Given the description of an element on the screen output the (x, y) to click on. 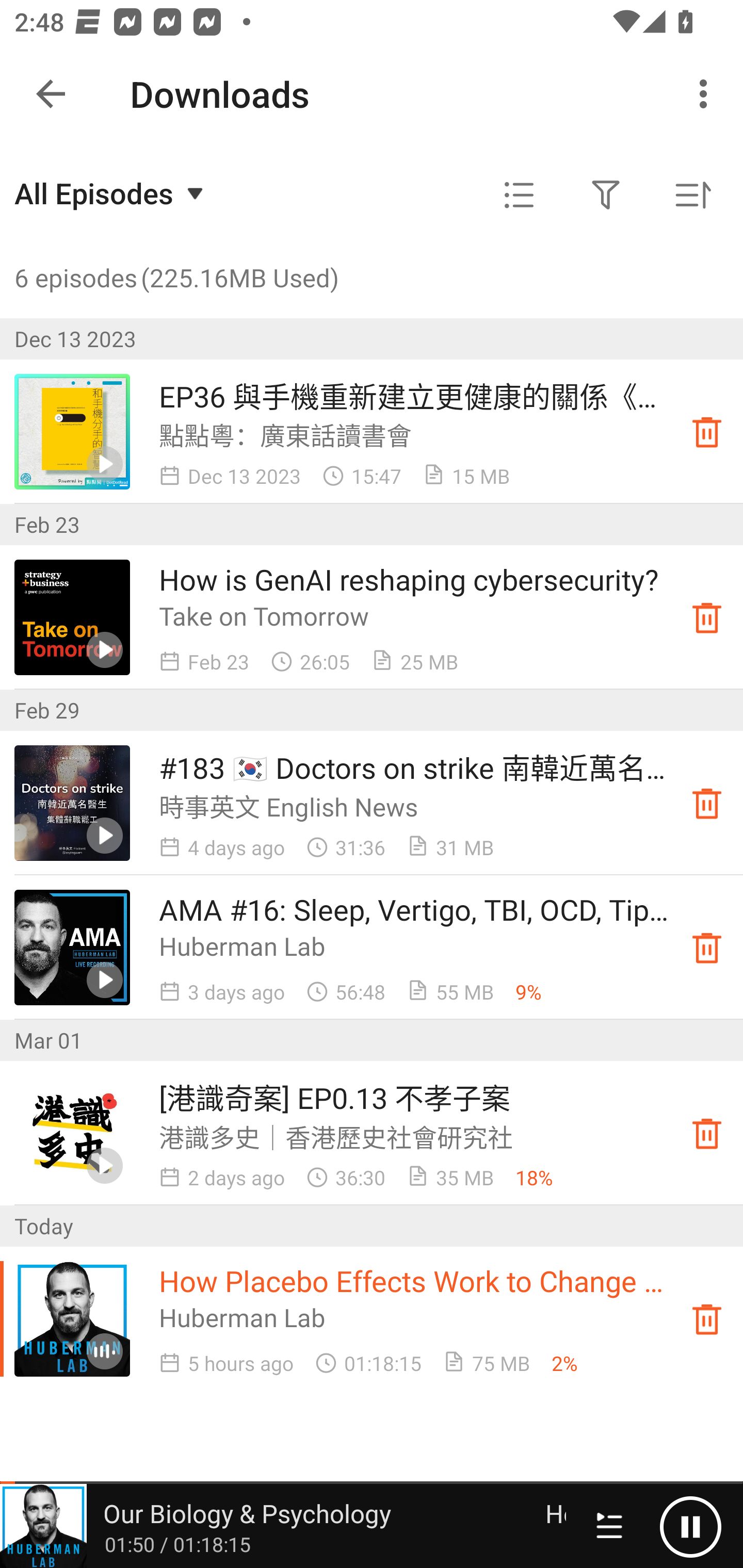
Navigate up (50, 93)
More options (706, 93)
All Episodes (111, 192)
 (518, 195)
 (605, 195)
 Sorted by oldest first (692, 195)
Downloaded (706, 431)
Downloaded (706, 617)
Downloaded (706, 802)
Downloaded (706, 947)
Downloaded (706, 1133)
Downloaded (706, 1318)
Pause (690, 1526)
